Given the description of an element on the screen output the (x, y) to click on. 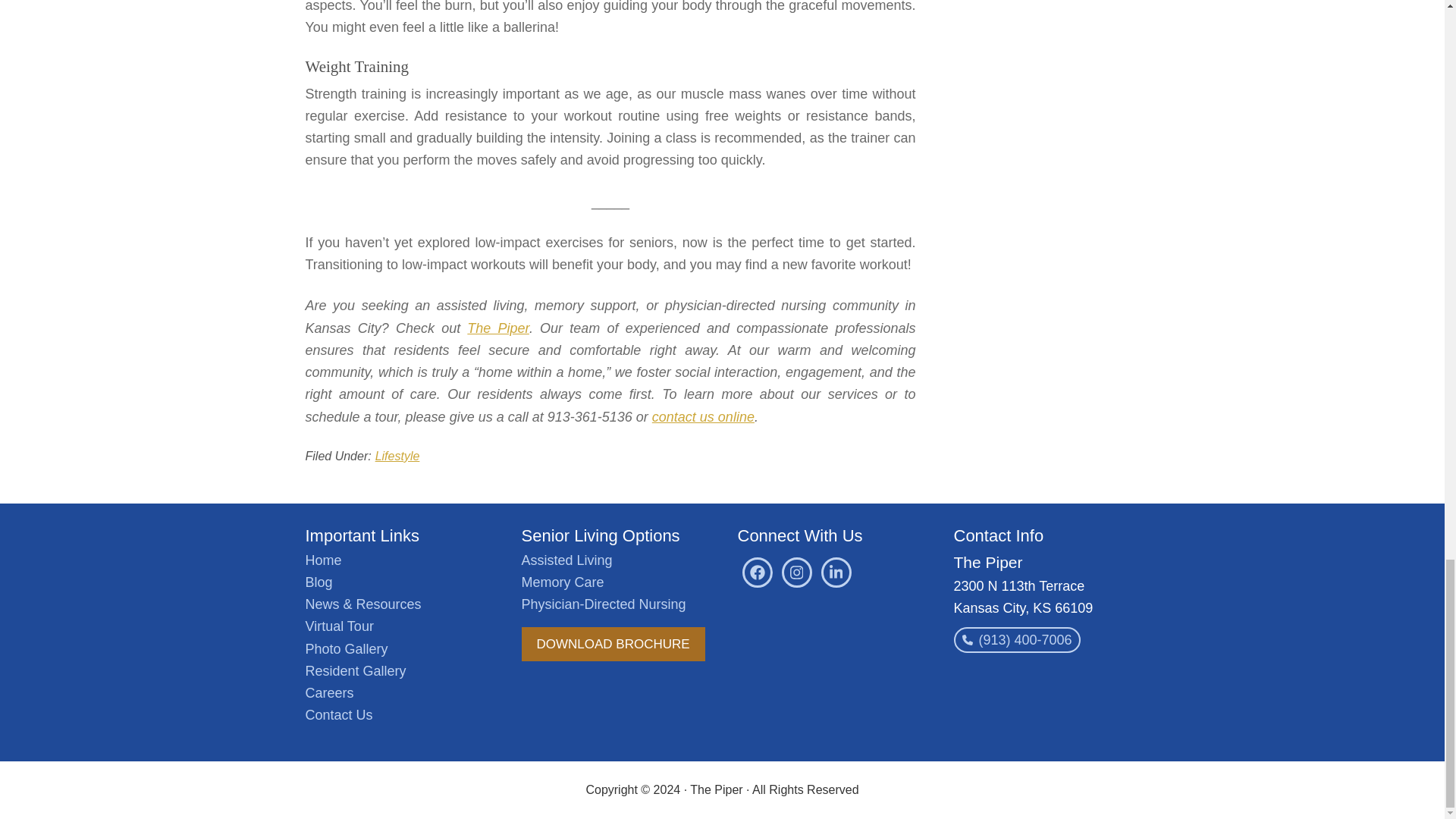
The Piper (498, 328)
Virtual Tour (338, 626)
Photo Gallery (345, 648)
Facebook (756, 572)
Blog (317, 581)
contact us online (703, 417)
Home (322, 560)
Lifestyle (397, 455)
Linkedin (835, 572)
Instagram (795, 572)
